Given the description of an element on the screen output the (x, y) to click on. 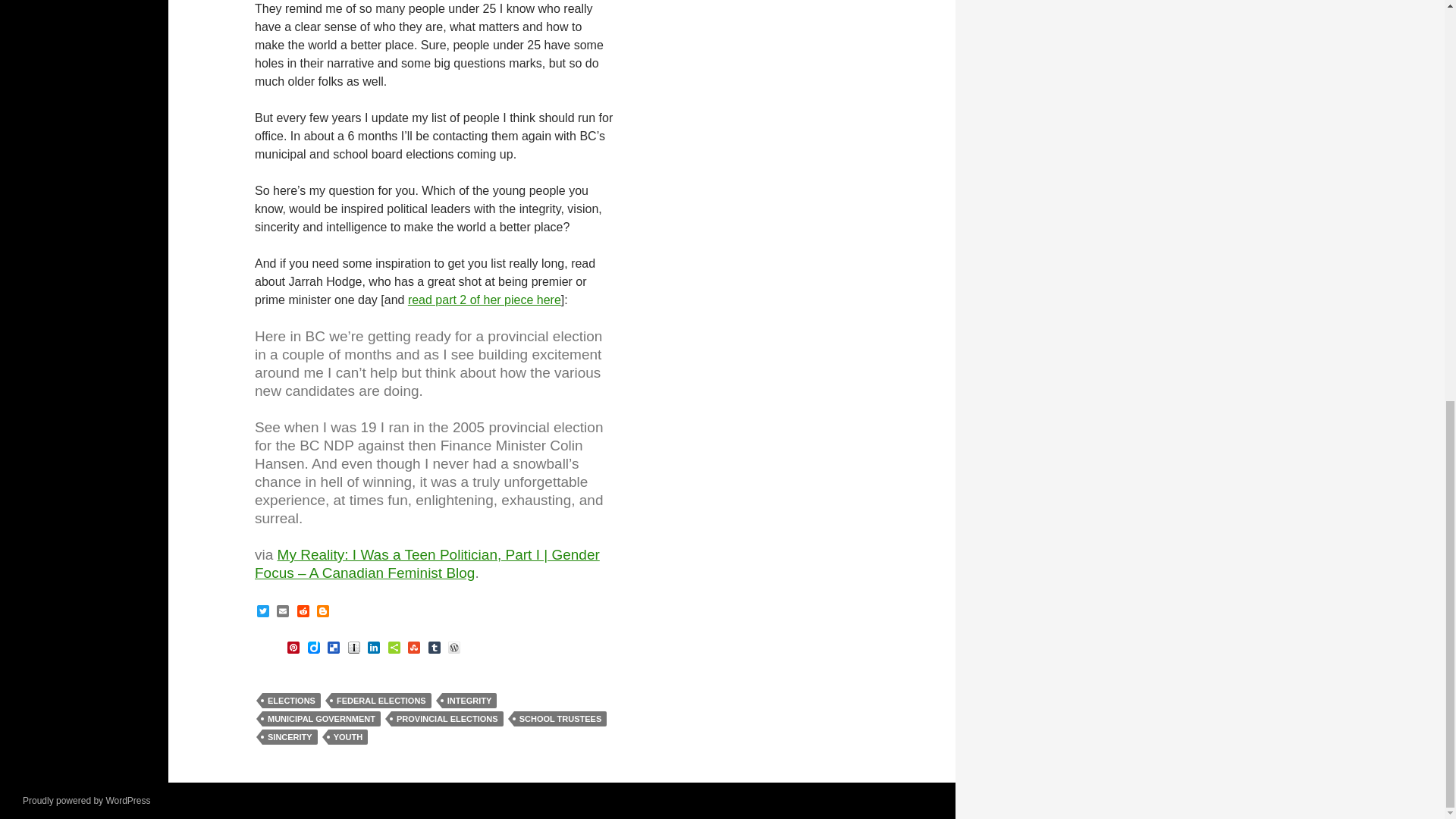
MUNICIPAL GOVERNMENT (321, 718)
YOUTH (348, 736)
PROVINCIAL ELECTIONS (447, 718)
SINCERITY (289, 736)
FEDERAL ELECTIONS (380, 700)
Proudly powered by WordPress (87, 800)
SCHOOL TRUSTEES (560, 718)
read part 2 of her piece here (483, 299)
ELECTIONS (291, 700)
INTEGRITY (469, 700)
